Given the description of an element on the screen output the (x, y) to click on. 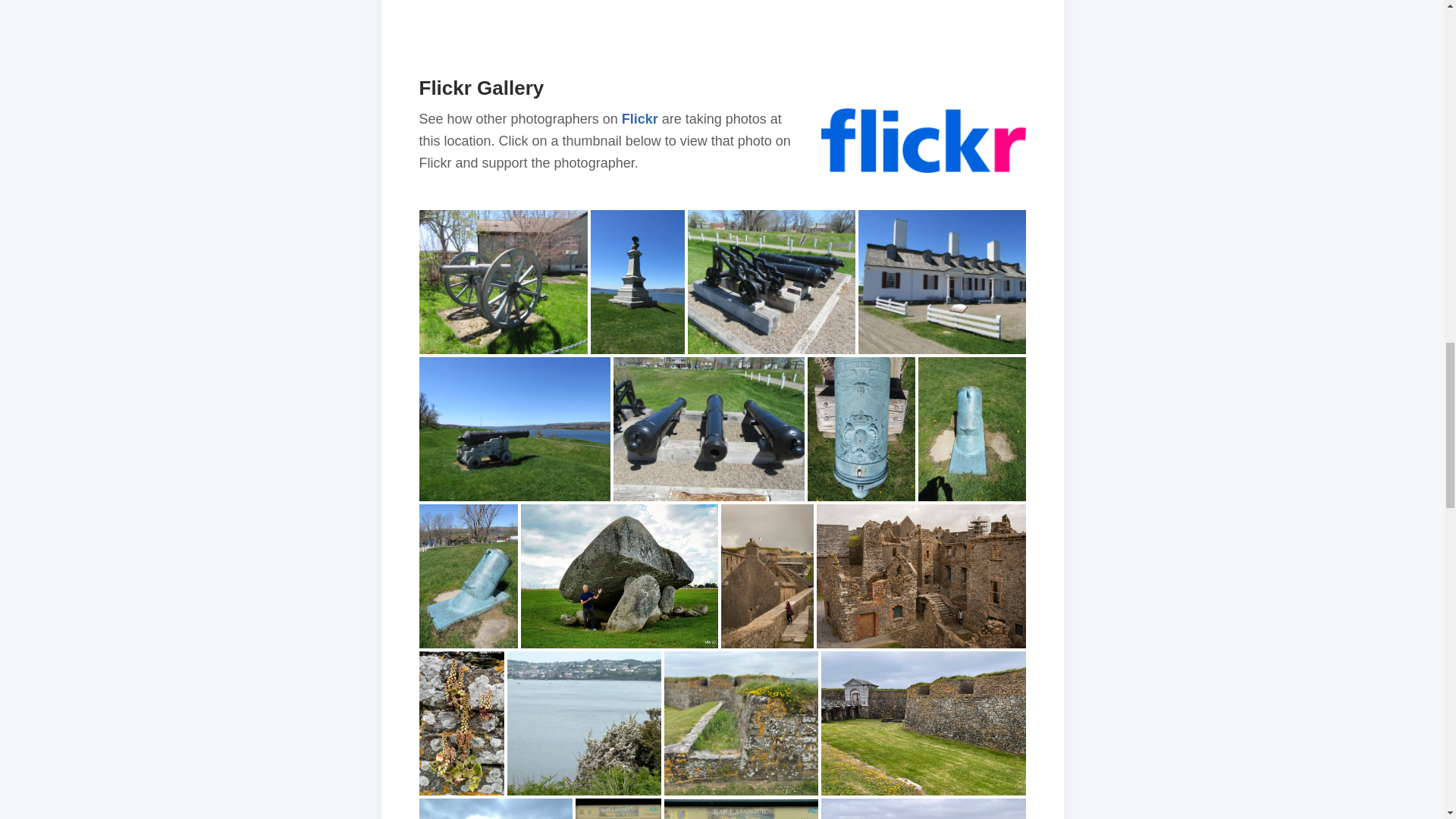
Map (722, 6)
